Given the description of an element on the screen output the (x, y) to click on. 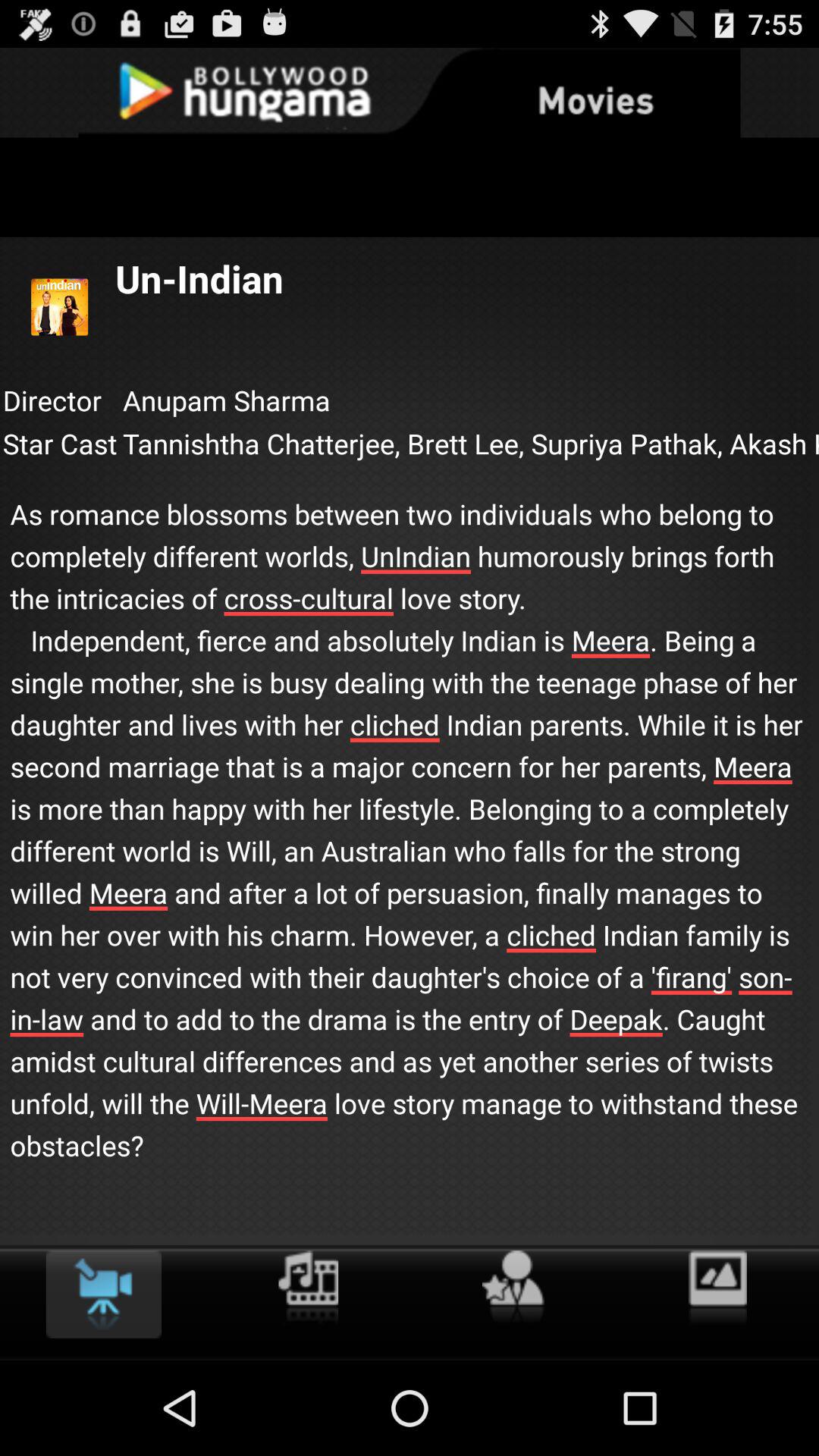
select item at the bottom right corner (717, 1288)
